Given the description of an element on the screen output the (x, y) to click on. 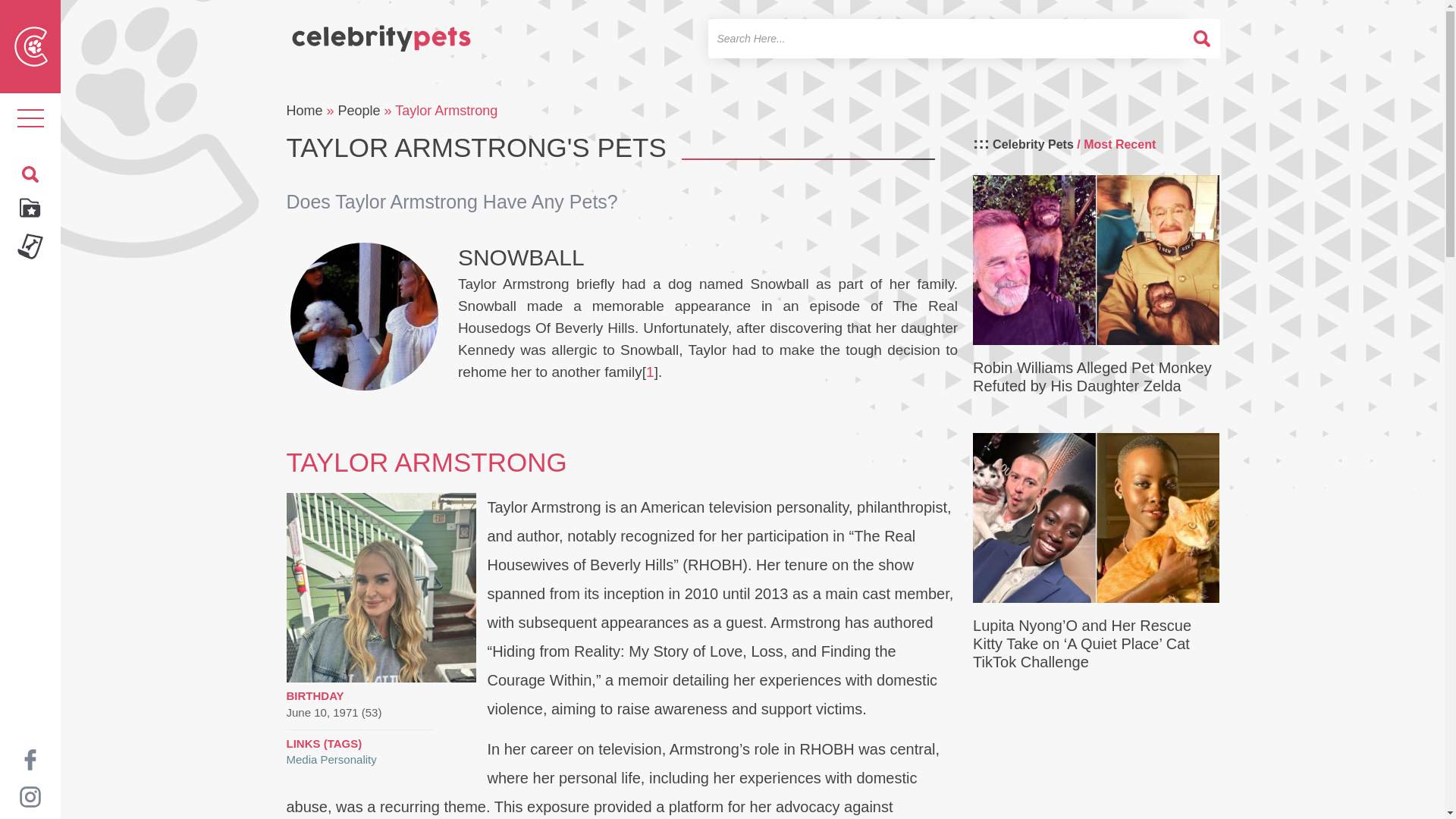
Search for (946, 38)
Celebrty Pets Icon (31, 45)
Celebrity Pets on Instagram (29, 795)
Toggle navigation (29, 117)
Celebrity Pets on Facebook (29, 758)
Celebrty Pets (381, 32)
